Given the description of an element on the screen output the (x, y) to click on. 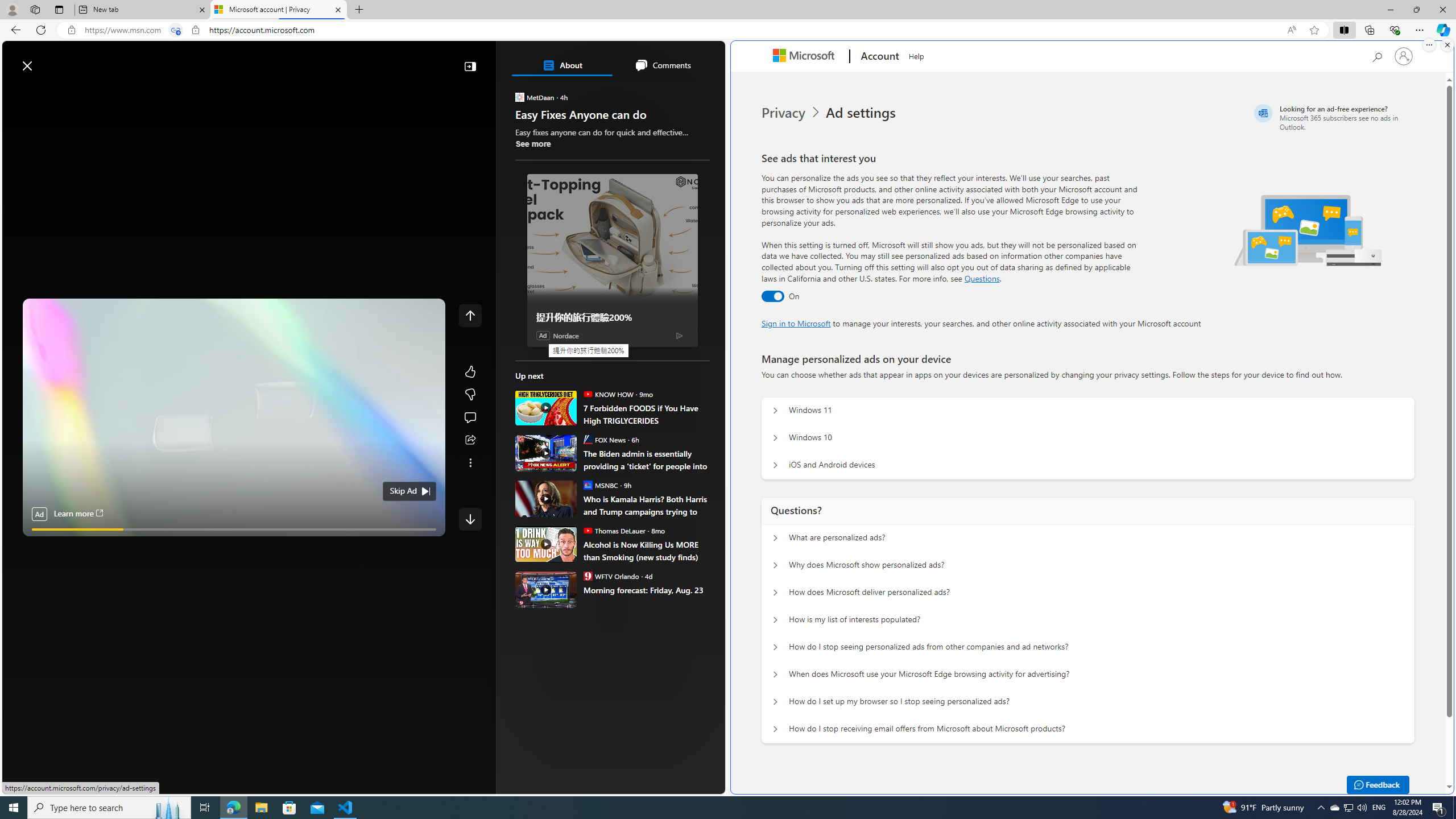
WFTV Orlando (587, 575)
Questions? How is my list of interests populated? (775, 619)
Class: button-glyph (16, 92)
Questions? Why does Microsoft show personalized ads? (775, 565)
MetDaan (519, 96)
Personalize (679, 92)
Learn more (77, 513)
